Given the description of an element on the screen output the (x, y) to click on. 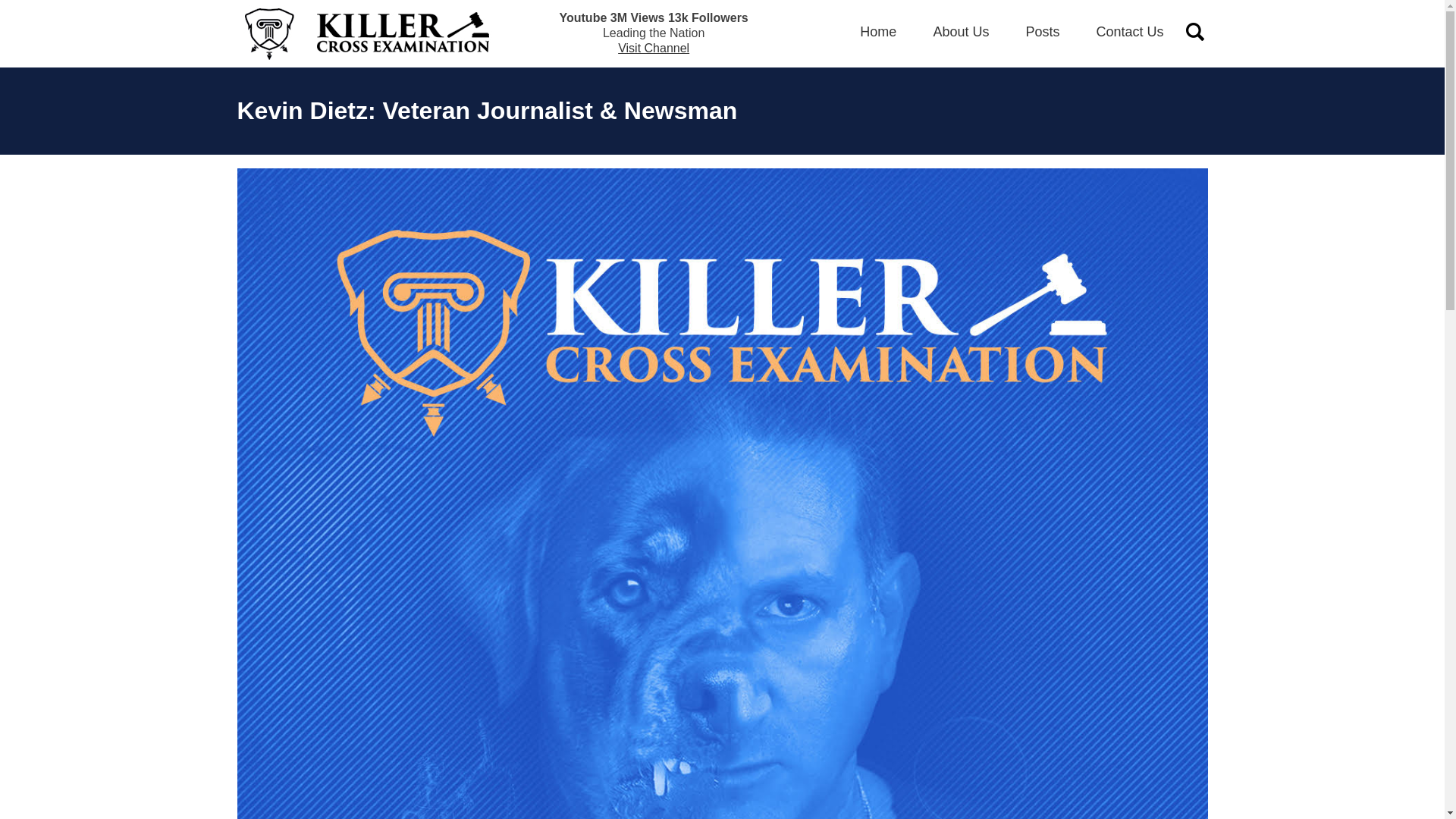
About Us (960, 31)
Search (32, 12)
Contact Us (1129, 31)
Visit Channel (652, 47)
